Given the description of an element on the screen output the (x, y) to click on. 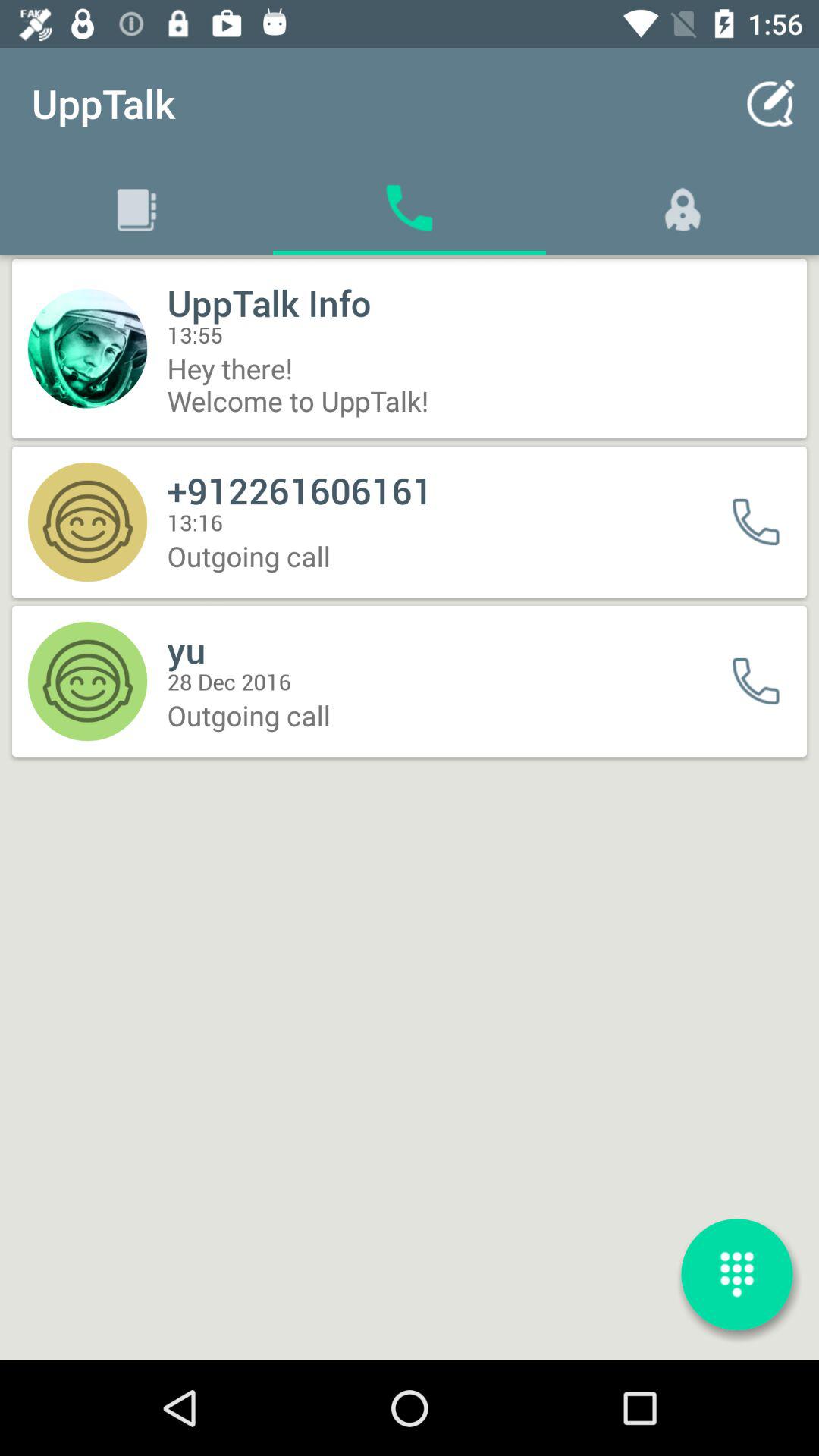
call (765, 681)
